Given the description of an element on the screen output the (x, y) to click on. 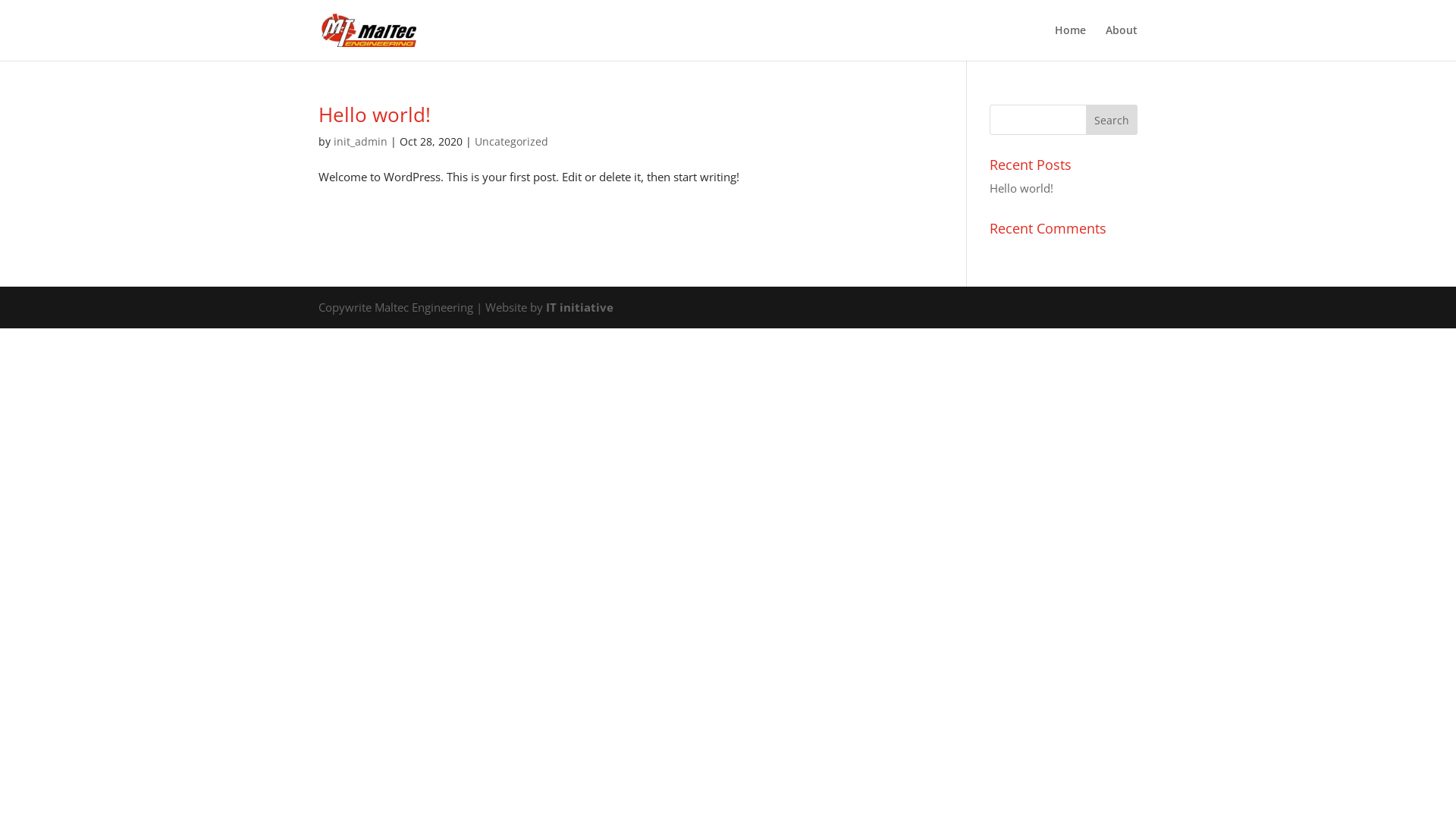
Uncategorized Element type: text (511, 141)
Hello world! Element type: text (374, 114)
init_admin Element type: text (360, 141)
IT initiative Element type: text (579, 305)
Search Element type: text (1111, 119)
About Element type: text (1121, 42)
Hello world! Element type: text (1021, 187)
Home Element type: text (1069, 42)
